Given the description of an element on the screen output the (x, y) to click on. 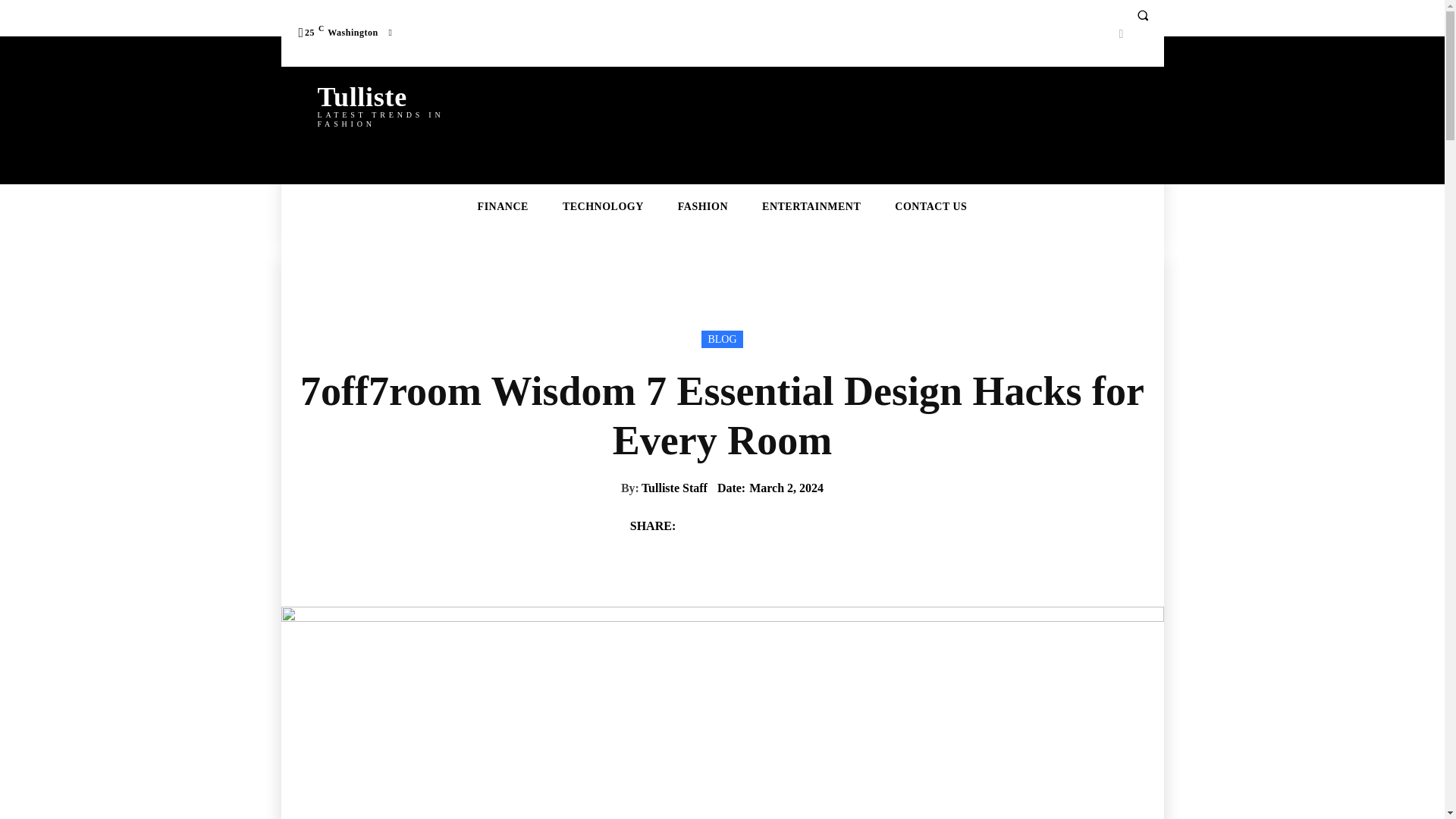
ENTERTAINMENT (811, 207)
TECHNOLOGY (603, 207)
FINANCE (502, 207)
FASHION (702, 207)
BLOG (398, 103)
CONTACT US (721, 339)
